Given the description of an element on the screen output the (x, y) to click on. 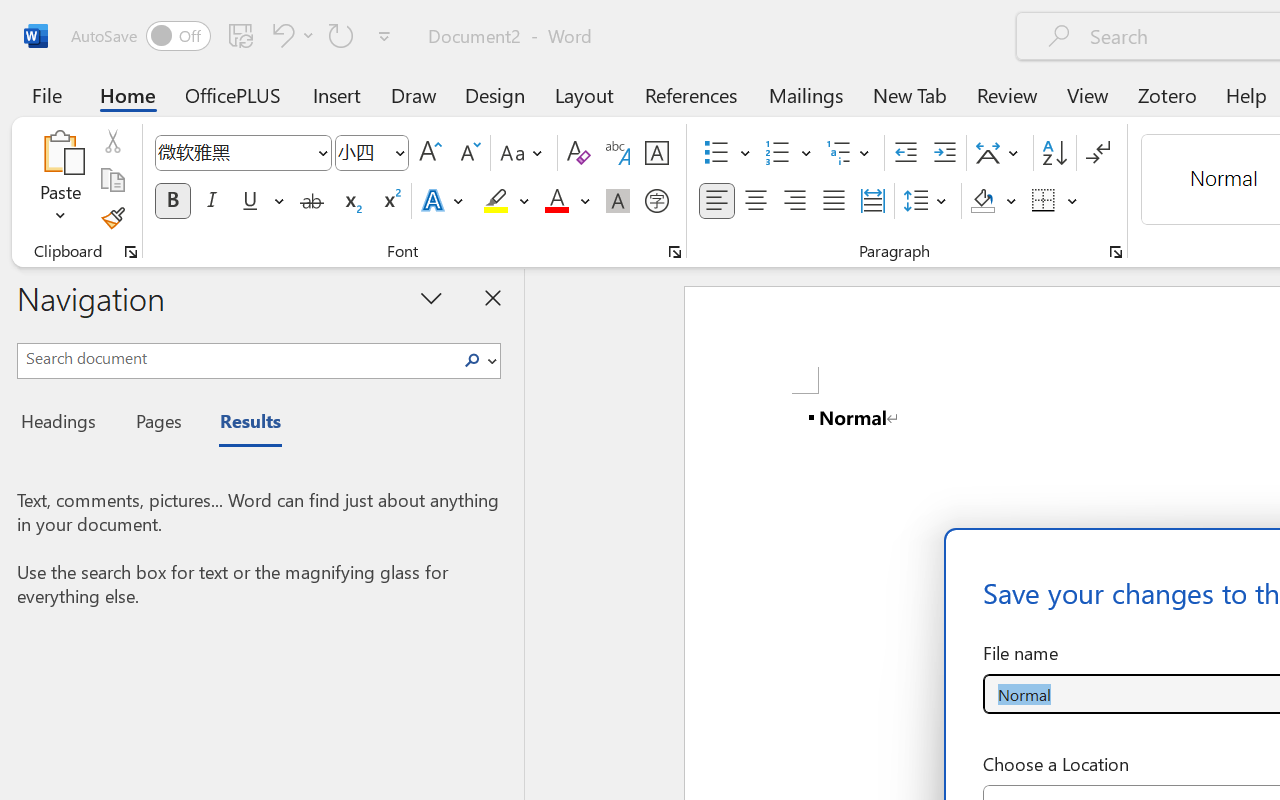
Font Size (372, 153)
Review (1007, 94)
Undo Text Fill Effect (290, 35)
Bold (172, 201)
Shading RGB(0, 0, 0) (982, 201)
View (1087, 94)
Paste (60, 151)
Borders (1055, 201)
Undo Text Fill Effect (280, 35)
New Tab (909, 94)
Open (399, 152)
Draw (413, 94)
Enclose Characters... (656, 201)
Shading (993, 201)
